Given the description of an element on the screen output the (x, y) to click on. 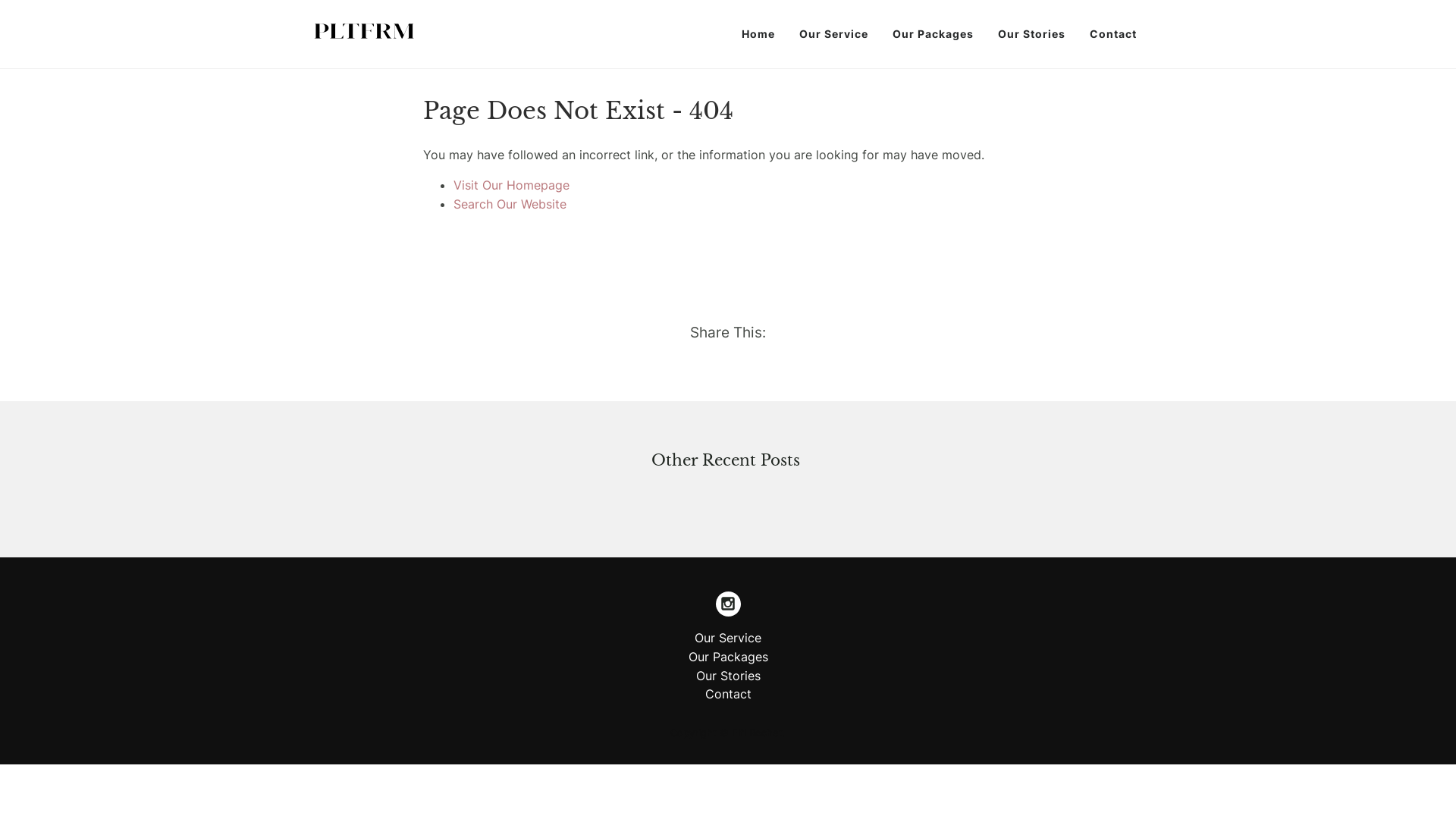
Visit Our Homepage Element type: text (511, 184)
Contact Element type: text (728, 693)
Instagram Element type: hover (727, 603)
Our Stories Element type: text (1031, 33)
Our Service Element type: text (833, 33)
Contact Element type: text (1112, 33)
Search Our Website Element type: text (509, 203)
Home Element type: text (758, 33)
Our Service Element type: text (727, 637)
Our Packages Element type: text (728, 656)
Our Stories Element type: text (728, 675)
Our Packages Element type: text (932, 33)
